Given the description of an element on the screen output the (x, y) to click on. 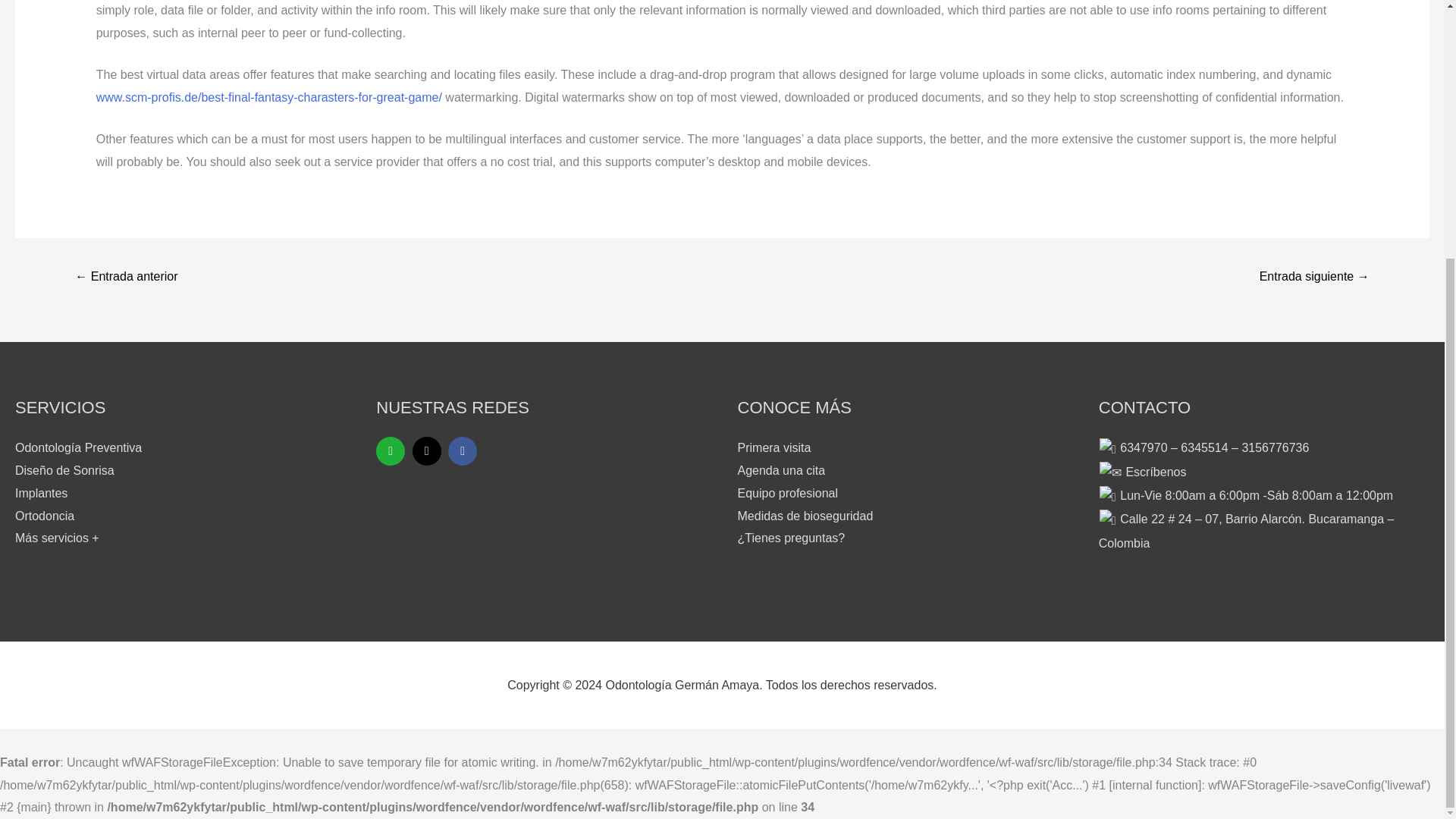
Facebook (462, 451)
Agenda una cita (780, 470)
instagram (426, 451)
The Best Mobile Anti-virus Software (125, 277)
whatsapp (389, 451)
Instagram (426, 451)
Ortodoncia (44, 514)
Equipo profesional (787, 492)
Medidas de bioseguridad (804, 514)
facebook (462, 451)
